Given the description of an element on the screen output the (x, y) to click on. 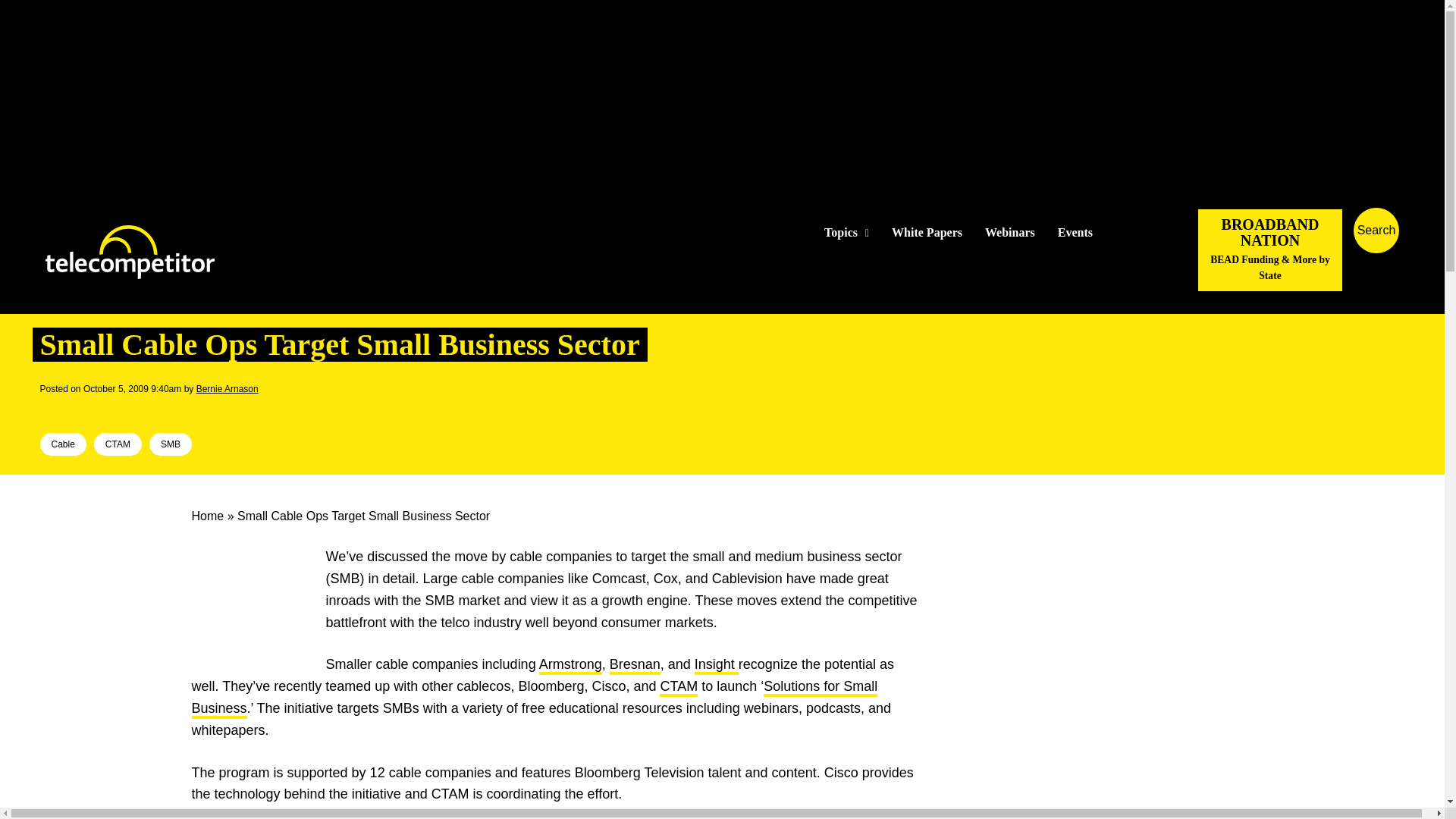
Share on Facebook (51, 409)
Search telecompetitor.com (1376, 230)
Bresnan Cable (635, 665)
White Papers (927, 232)
Spread the word on Twitter (75, 409)
Topics (846, 232)
Armstrong Cable (570, 665)
Solutions for Small Business (533, 698)
Insight (716, 665)
CTAM (678, 687)
